Given the description of an element on the screen output the (x, y) to click on. 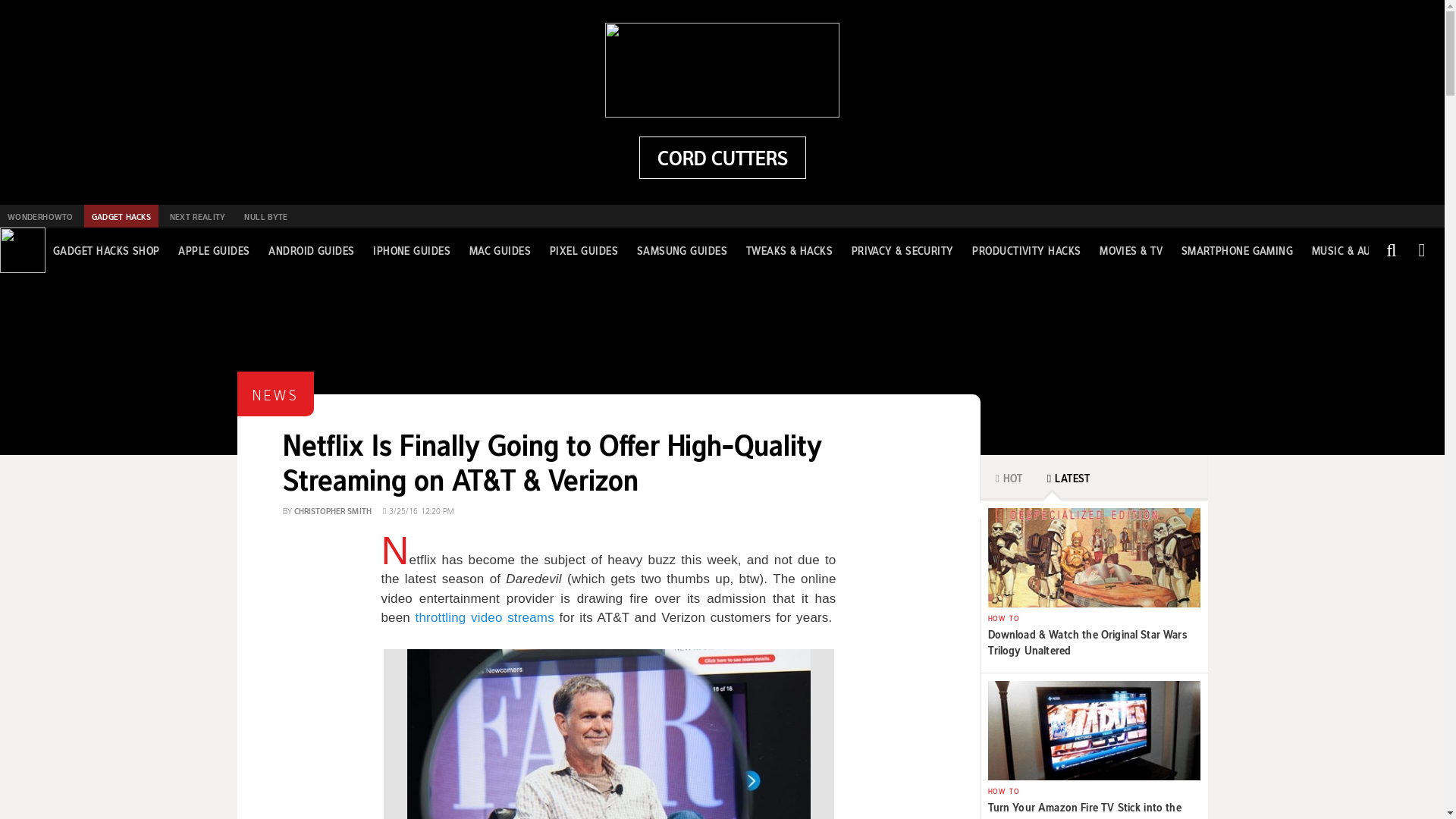
IPHONE GUIDES (410, 249)
GADGET HACKS SHOP (106, 249)
NULL BYTE (265, 215)
PRODUCTIVITY HACKS (1026, 249)
Because who needs cable? (722, 157)
SMARTPHONE GAMING (1237, 249)
CHRISTOPHER SMITH (332, 509)
CORD CUTTERS (722, 157)
PIXEL GUIDES (583, 249)
ANDROID GUIDES (310, 249)
